Given the description of an element on the screen output the (x, y) to click on. 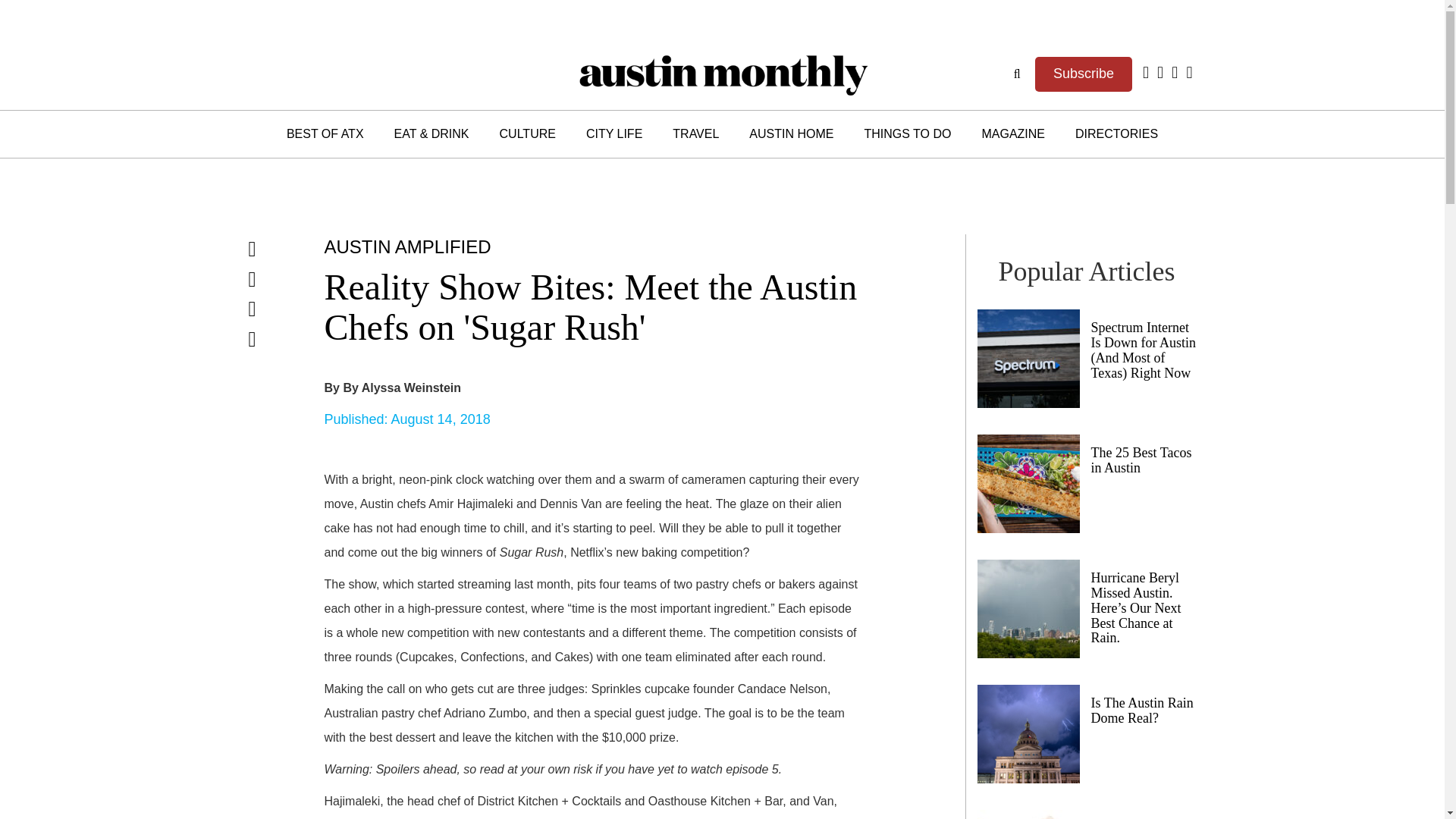
Twitter (1162, 72)
Reality Show Bites: Meet the Austin Chefs on 'Sugar Rush' (590, 306)
TRAVEL (695, 134)
Close Search Form (731, 420)
Search (1018, 73)
BEST OF ATX (324, 134)
DIRECTORIES (1116, 134)
youtube (1189, 72)
MAGAZINE (1012, 134)
THINGS TO DO (907, 134)
Austin Monthly Magazine (721, 73)
Instagram (1177, 72)
CULTURE (527, 134)
CITY LIFE (614, 134)
AUSTIN AMPLIFIED (408, 248)
